Given the description of an element on the screen output the (x, y) to click on. 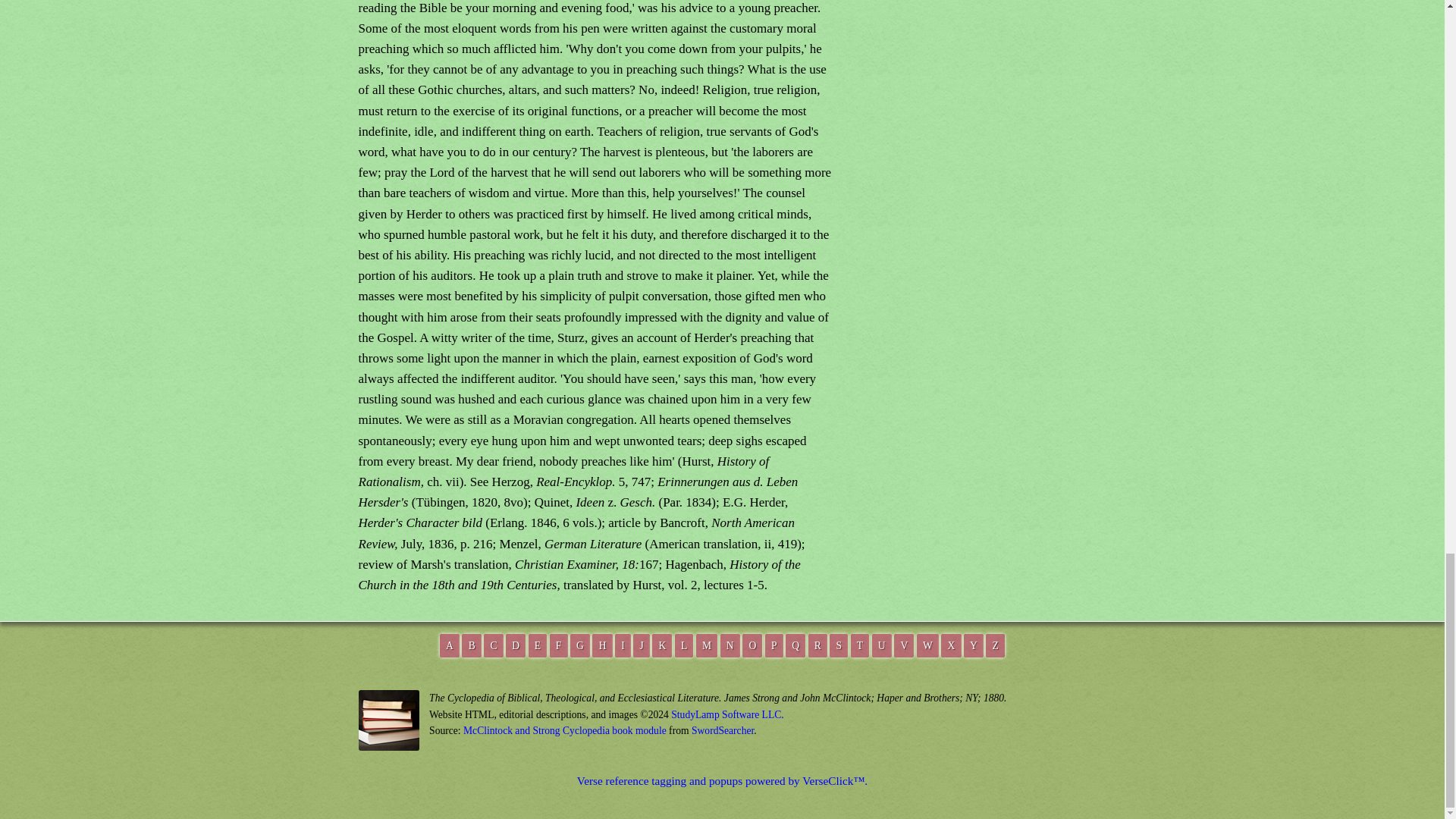
M (706, 645)
StudyLamp Software LLC. (727, 714)
W (928, 645)
McClintock and Strong Cyclopedia book module (564, 730)
